Given the description of an element on the screen output the (x, y) to click on. 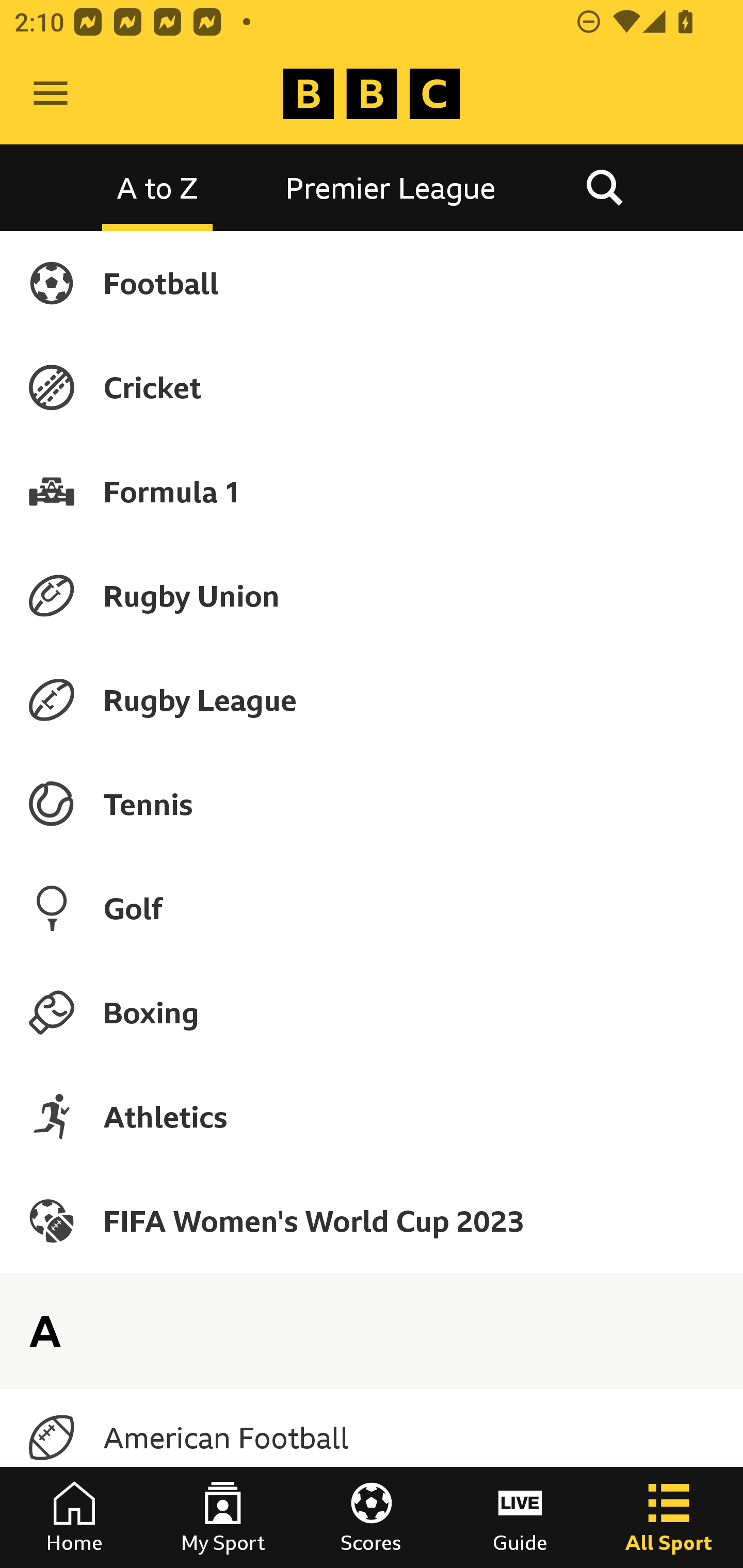
Open Menu (50, 93)
Premier League (390, 187)
Search (604, 187)
Football (371, 282)
Cricket (371, 387)
Formula 1 (371, 491)
Rugby Union (371, 595)
Rugby League (371, 699)
Tennis (371, 804)
Golf (371, 907)
Boxing (371, 1011)
Athletics (371, 1116)
FIFA Women's World Cup 2023 (371, 1220)
American Football (371, 1437)
Home (74, 1517)
My Sport (222, 1517)
Scores (371, 1517)
Guide (519, 1517)
